Given the description of an element on the screen output the (x, y) to click on. 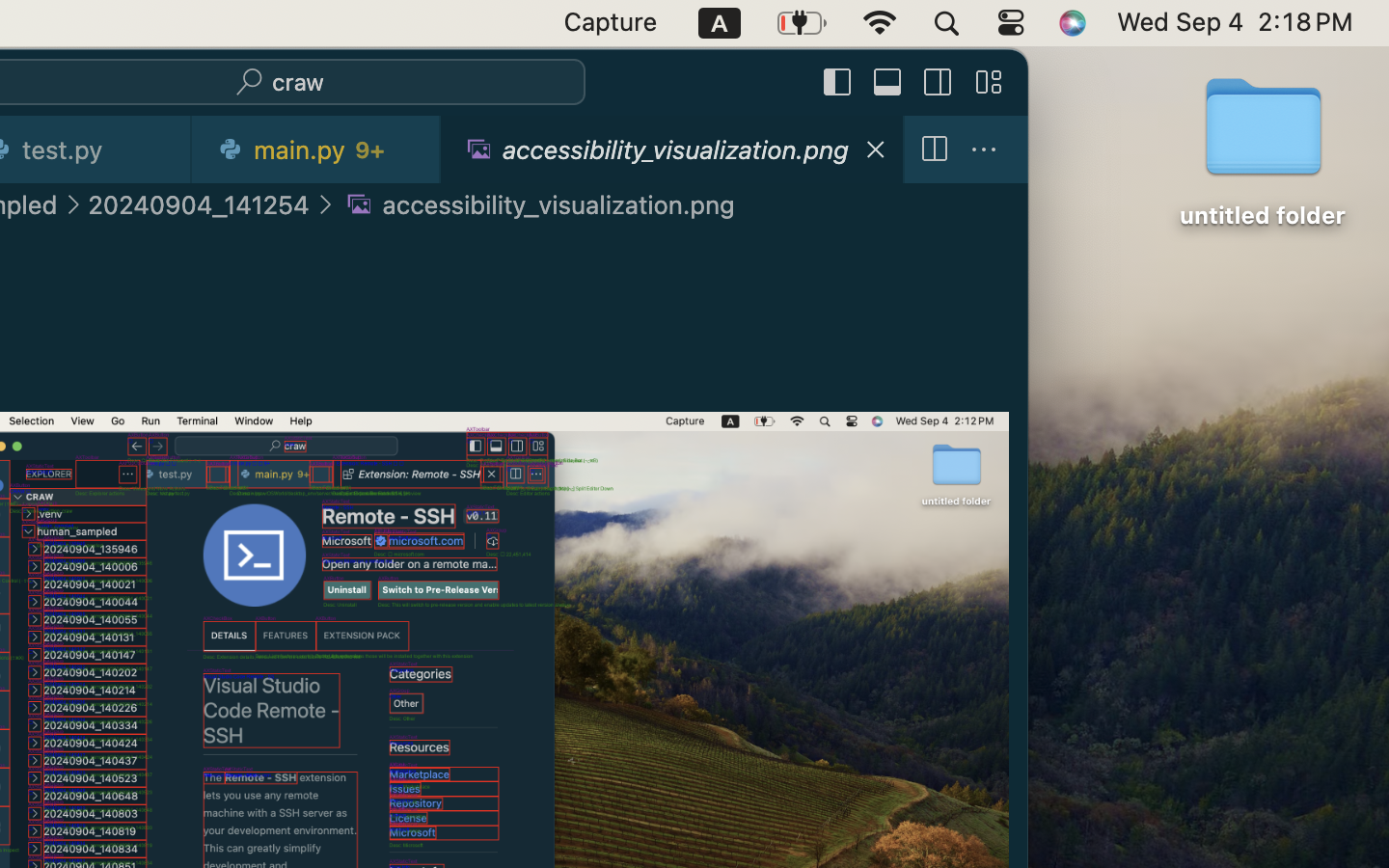
accessibility_visualization.png  Element type: AXGroup (537, 204)
0 main.py   9+ Element type: AXRadioButton (316, 149)
 Element type: AXCheckBox (838, 82)
20240904_141254 Element type: AXGroup (199, 204)
 Element type: AXCheckBox (888, 82)
